Given the description of an element on the screen output the (x, y) to click on. 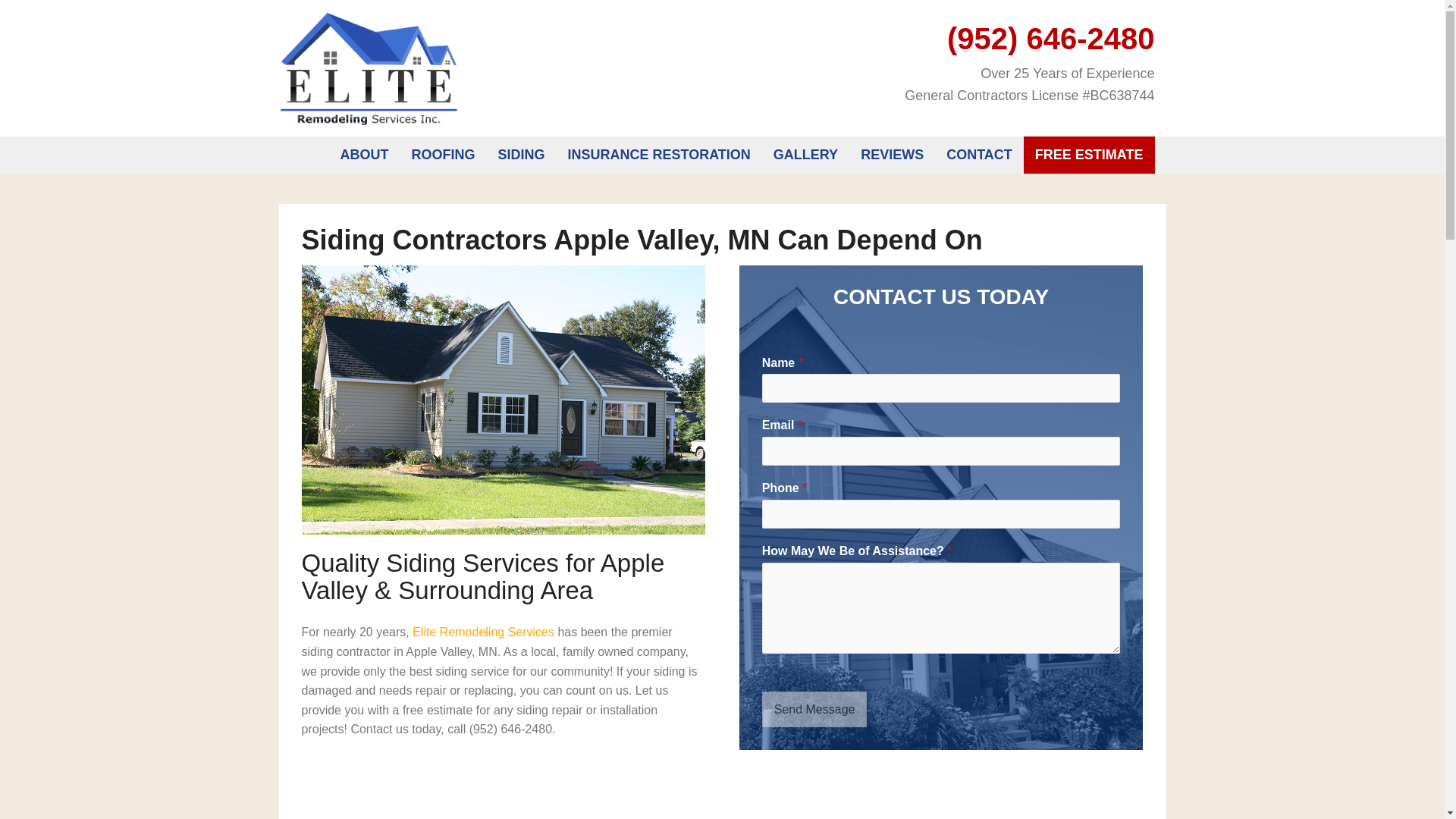
ROOFING (442, 154)
SIDING (521, 154)
FREE ESTIMATE (1088, 154)
REVIEWS (891, 154)
Send Message (814, 709)
Elite Remodeling Services (483, 631)
GALLERY (804, 154)
ABOUT (363, 154)
CONTACT (978, 154)
Elite Remodeling Services (368, 67)
INSURANCE RESTORATION (658, 154)
